Given the description of an element on the screen output the (x, y) to click on. 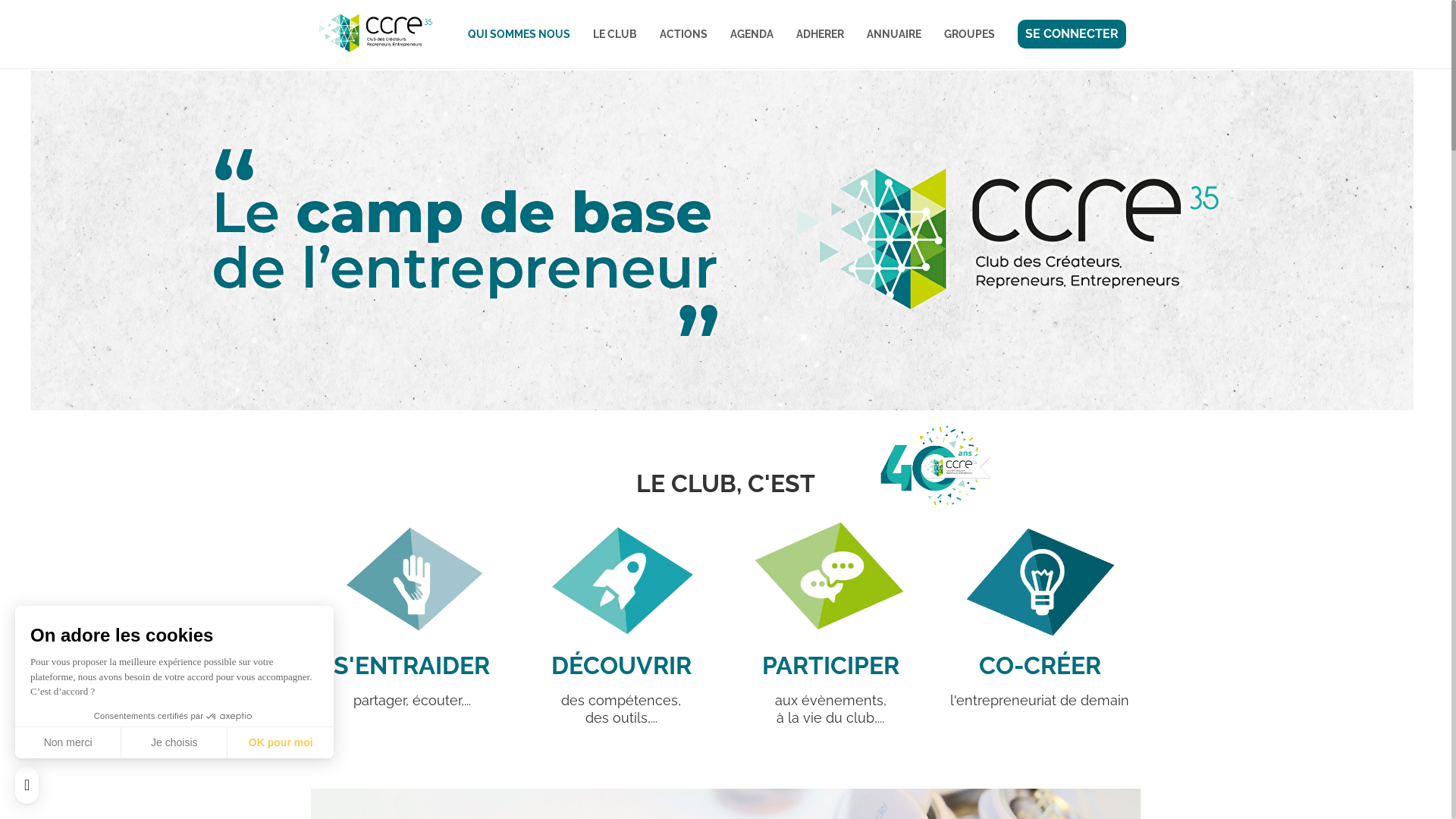
LE CLUB Element type: text (613, 34)
QUI SOMMES NOUS Element type: text (518, 34)
OK pour moi Element type: text (280, 742)
Je choisis Element type: text (174, 742)
ACTIONS Element type: text (682, 34)
ADHERER Element type: text (819, 34)
AGENDA Element type: text (751, 34)
Non merci Element type: text (68, 742)
GROUPES Element type: text (969, 34)
SE CONNECTER Element type: text (1070, 34)
ANNUAIRE Element type: text (893, 34)
